Given the description of an element on the screen output the (x, y) to click on. 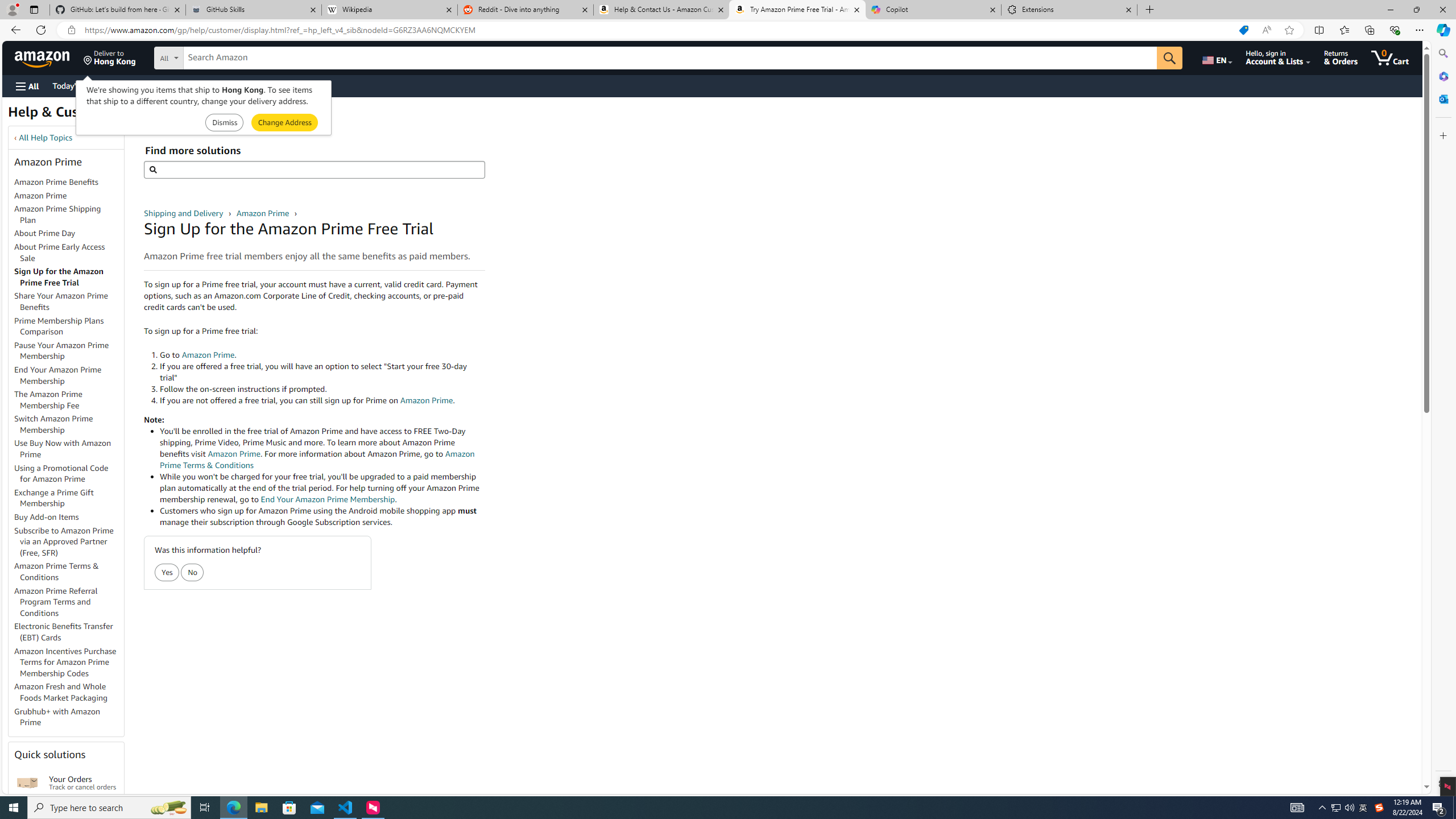
Exchange a Prime Gift Membership (68, 498)
Amazon Prime  (263, 213)
Your Orders (27, 782)
Buy Add-on Items (68, 517)
Settings and more (Alt+F) (1419, 29)
GitHub Skills (253, 9)
Prime Membership Plans Comparison (58, 326)
Your Orders Track or cancel orders (82, 782)
Read aloud this page (Ctrl+Shift+U) (1266, 29)
Close tab (1129, 9)
Grubhub+ with Amazon Prime (57, 716)
Amazon Prime Benefits (56, 181)
About Prime Early Access Sale (68, 252)
Search Amazon (670, 57)
